Given the description of an element on the screen output the (x, y) to click on. 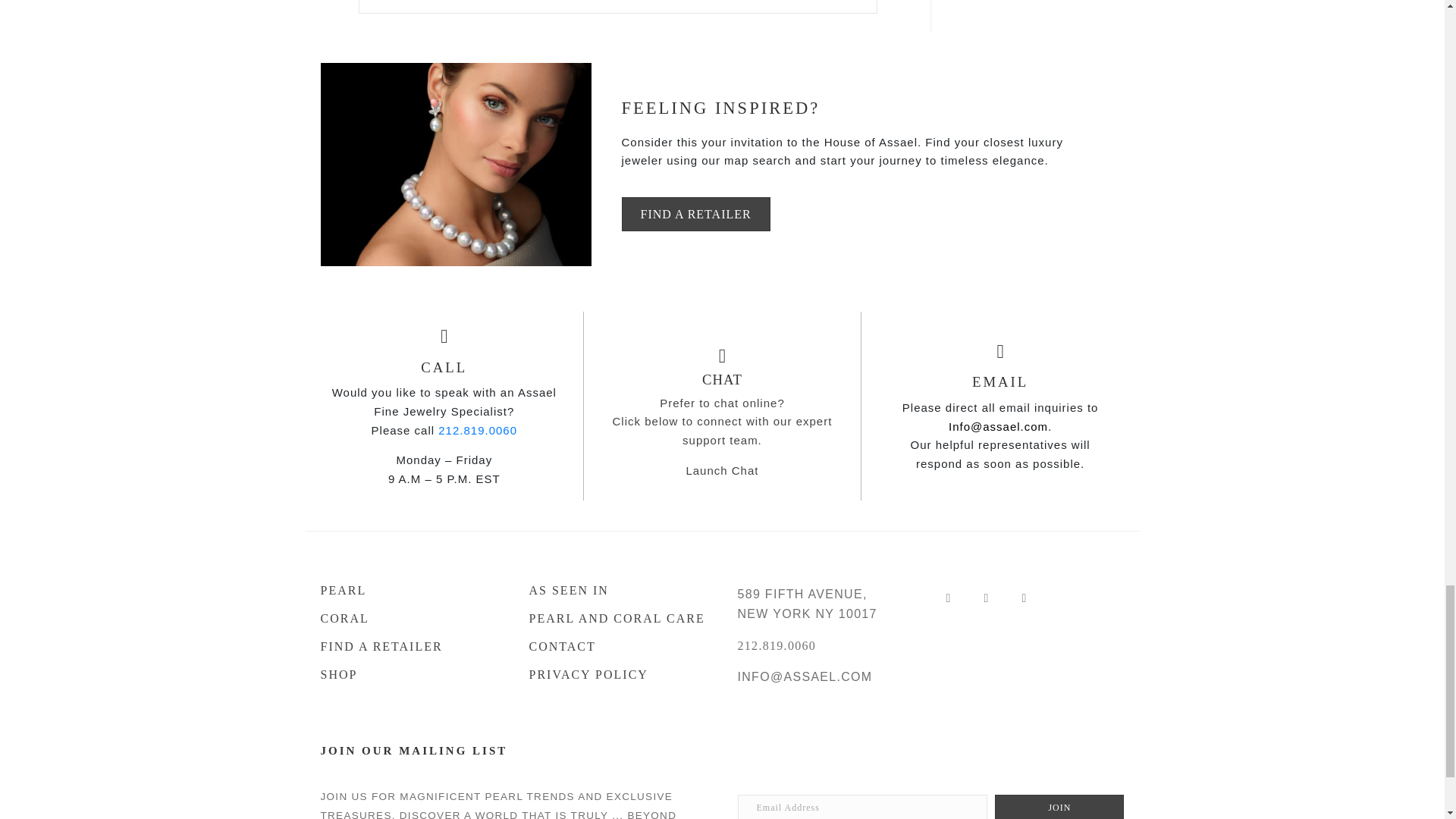
FIND A RETAILER (408, 638)
Launch Chat (721, 470)
CORAL (408, 610)
CONTACT (618, 638)
AS SEEN IN (618, 583)
212.819.0060 (477, 429)
PEARL AND CORAL CARE (618, 610)
Classic Assael (455, 164)
212.819.0060 (775, 645)
PEARL (408, 583)
FIND A RETAILER (695, 213)
PRIVACY POLICY (618, 666)
SHOP (408, 666)
